Given the description of an element on the screen output the (x, y) to click on. 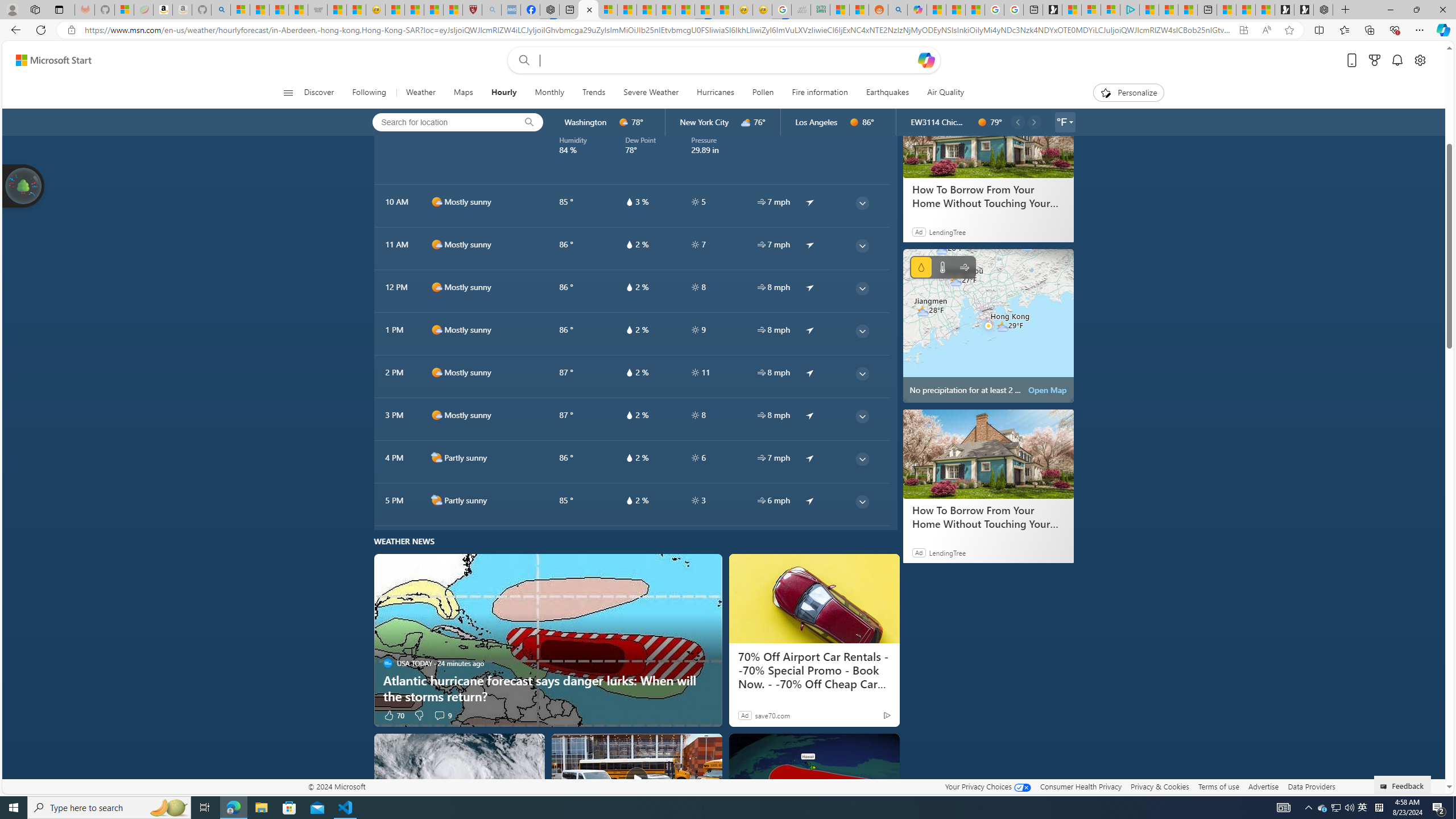
Class: button-glyph (287, 92)
Monthly (549, 92)
No precipitation for at least 2 hours (988, 325)
hourlyTable/drop (628, 500)
d2000 (436, 500)
